Given the description of an element on the screen output the (x, y) to click on. 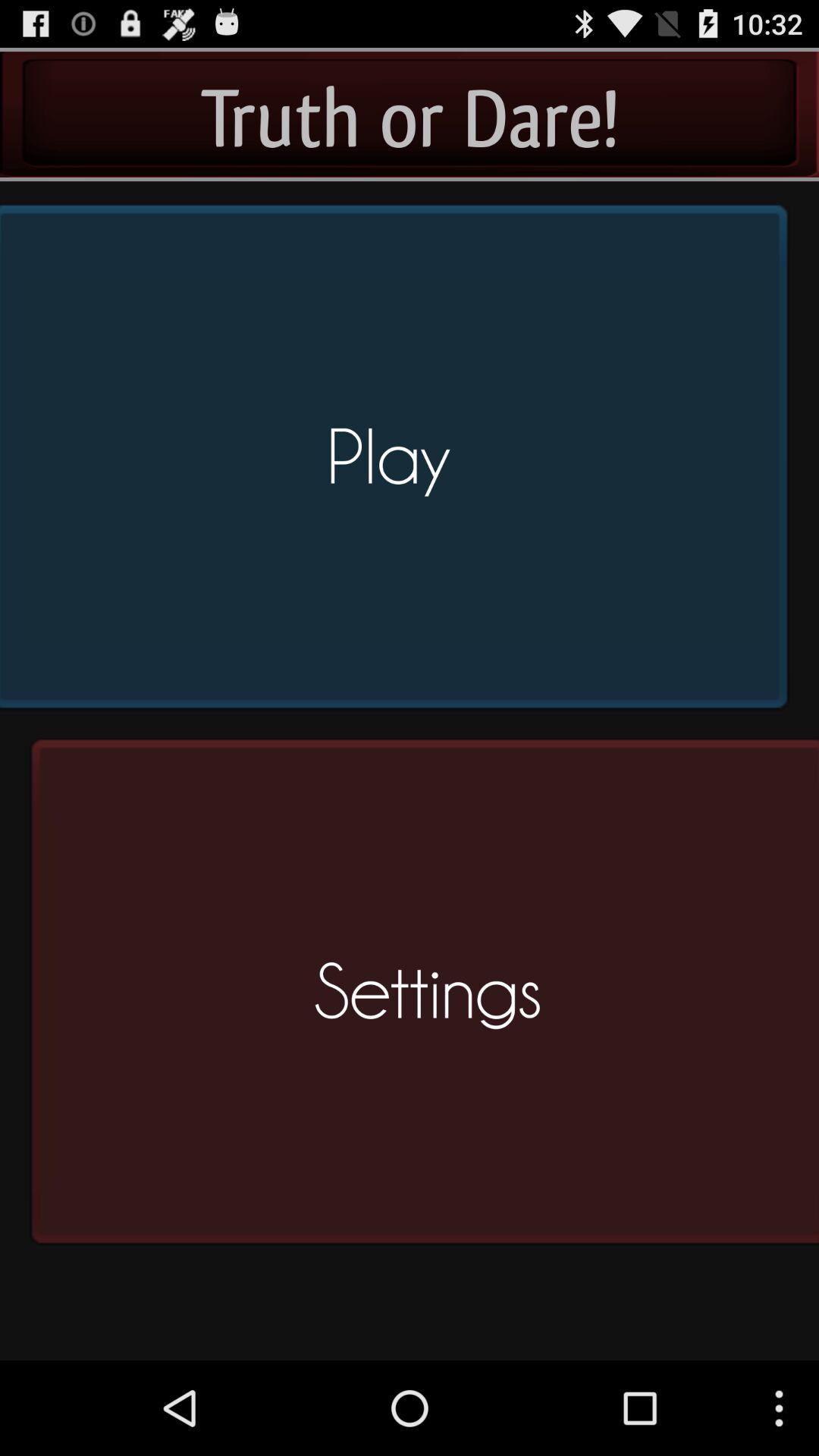
launch the play item (399, 463)
